Given the description of an element on the screen output the (x, y) to click on. 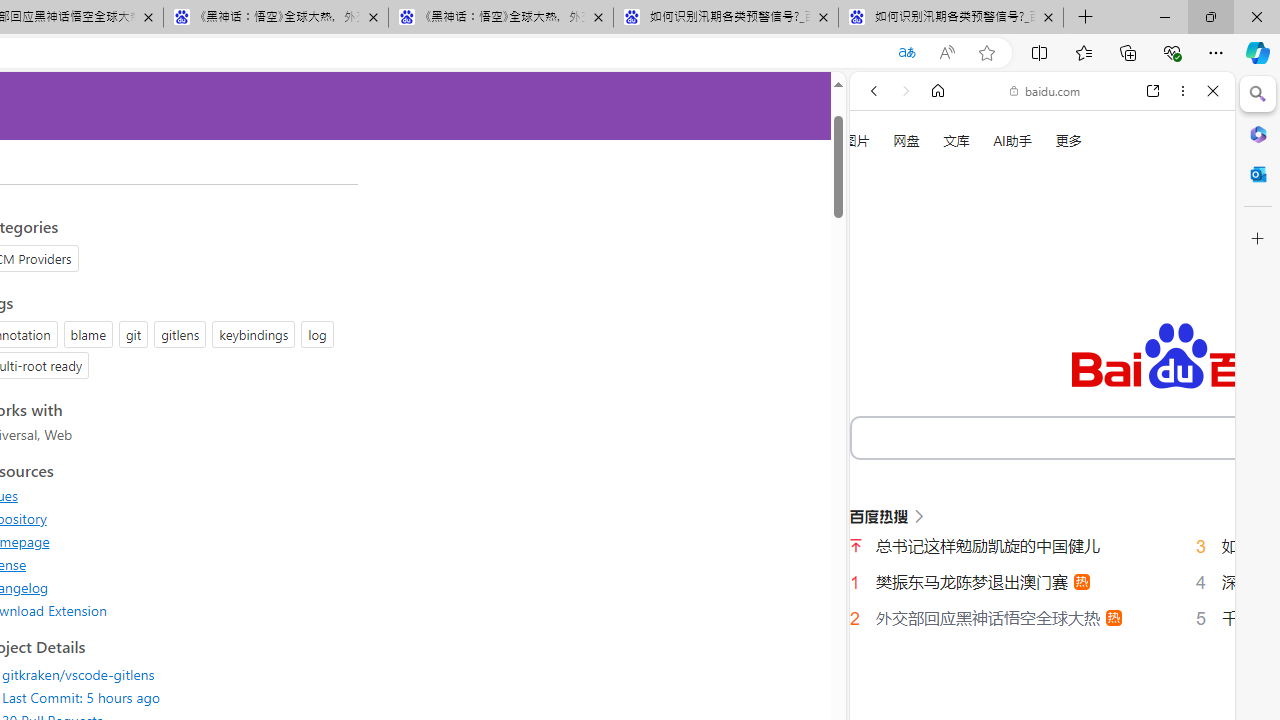
To get missing image descriptions, open the context menu. (882, 228)
Global web icon (888, 698)
English (US) (1042, 579)
Search the web (1051, 137)
